Given the description of an element on the screen output the (x, y) to click on. 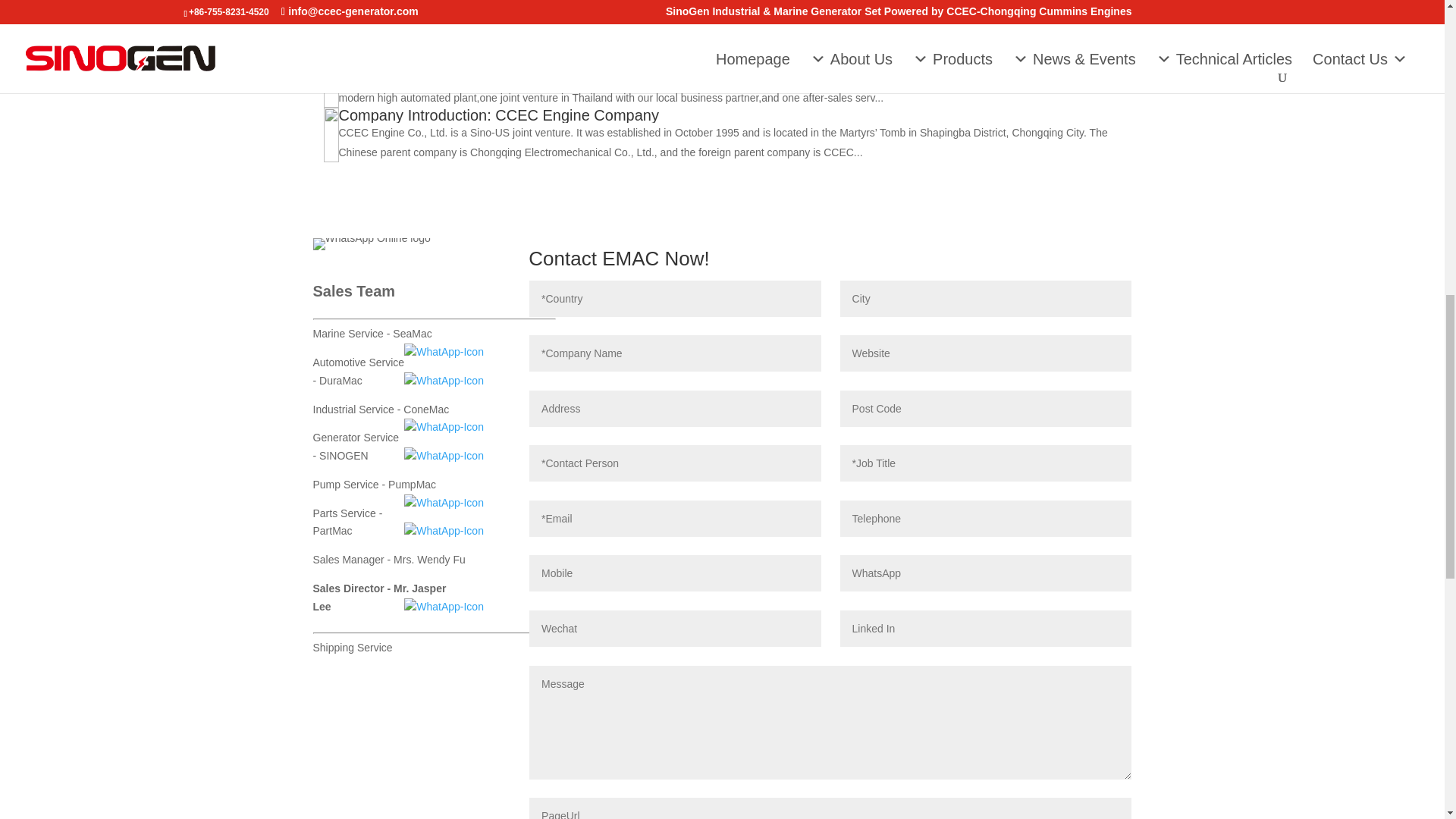
WhatsApp-Online-logo-4 (371, 244)
